Given the description of an element on the screen output the (x, y) to click on. 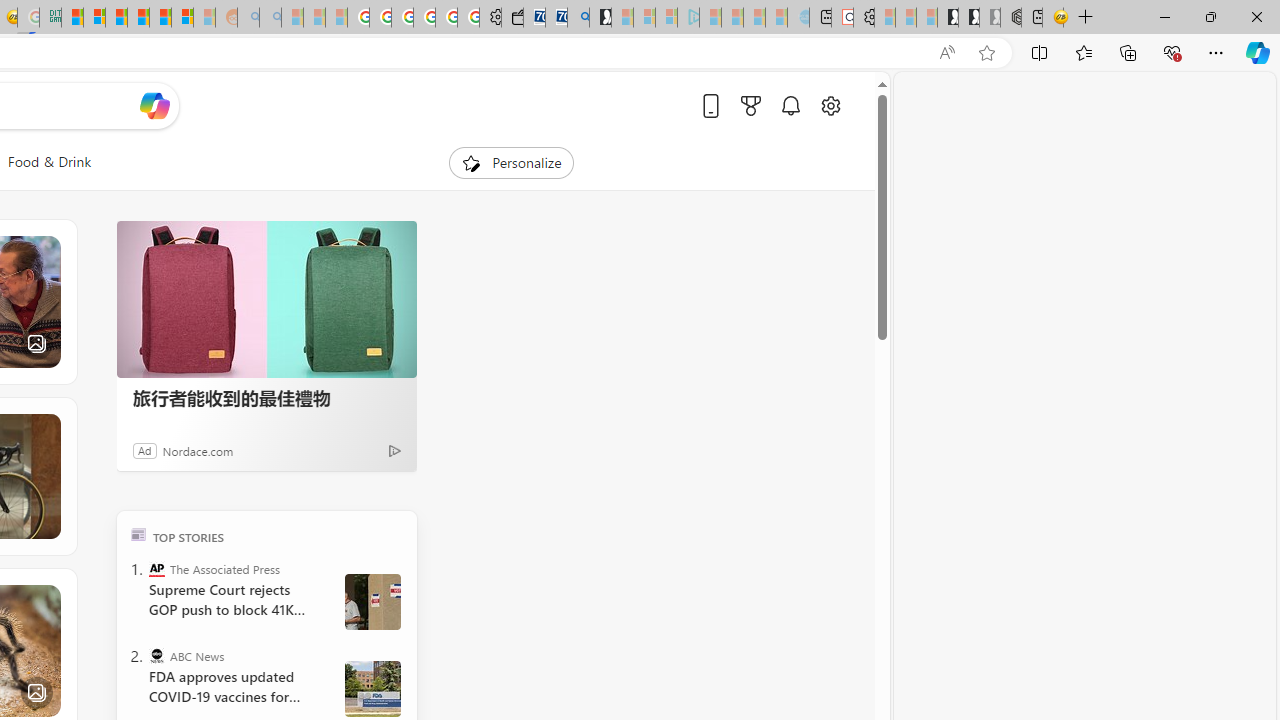
Nordace.com (198, 450)
The Associated Press (156, 568)
